Given the description of an element on the screen output the (x, y) to click on. 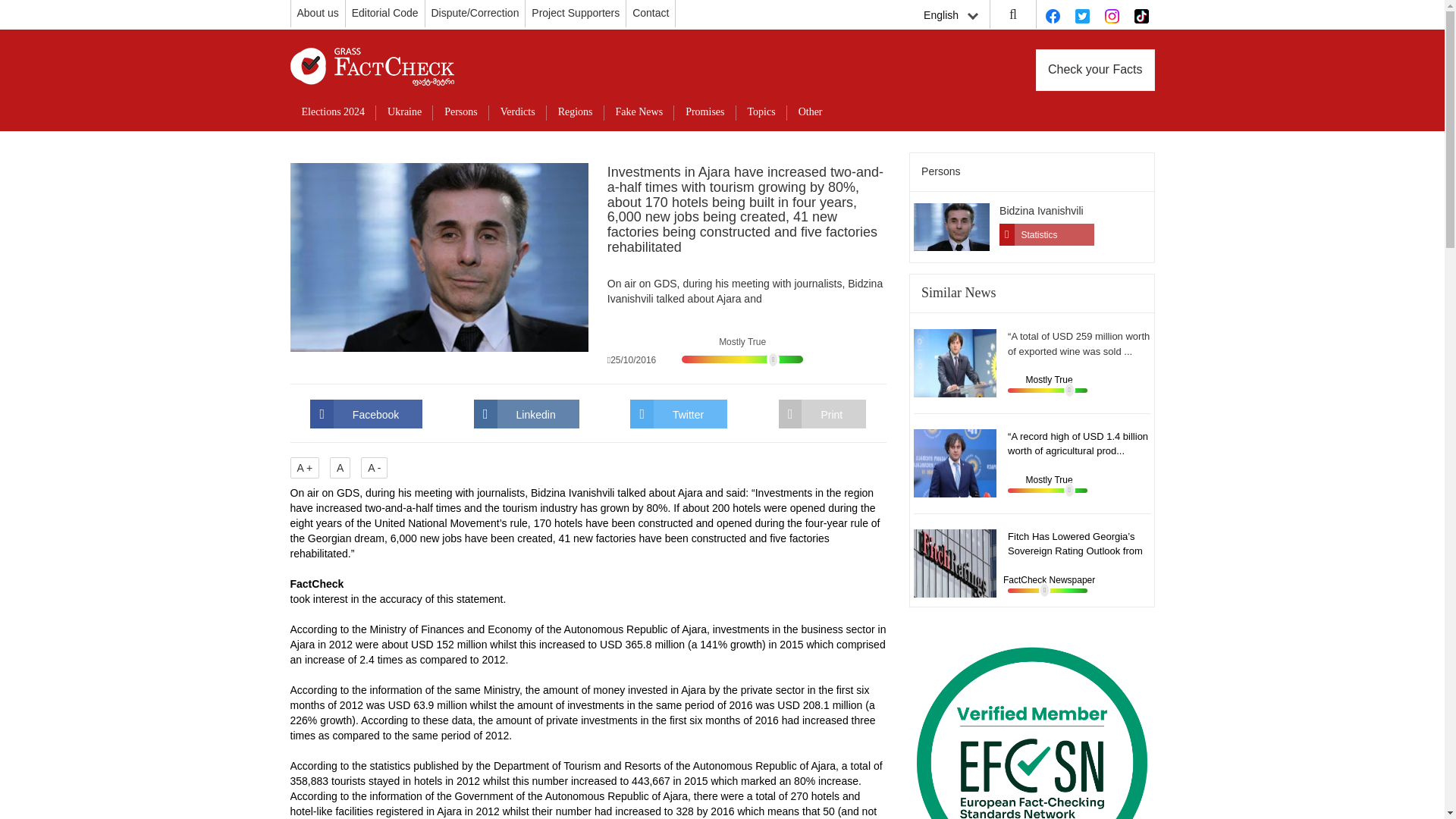
Persons (460, 112)
English (950, 15)
Check your Facts (1094, 69)
Project Supporters (575, 12)
Editorial Code (385, 12)
Ukraine (403, 112)
Contact (649, 12)
About us (318, 12)
Verdicts (518, 112)
Elections 2024 (332, 112)
